Given the description of an element on the screen output the (x, y) to click on. 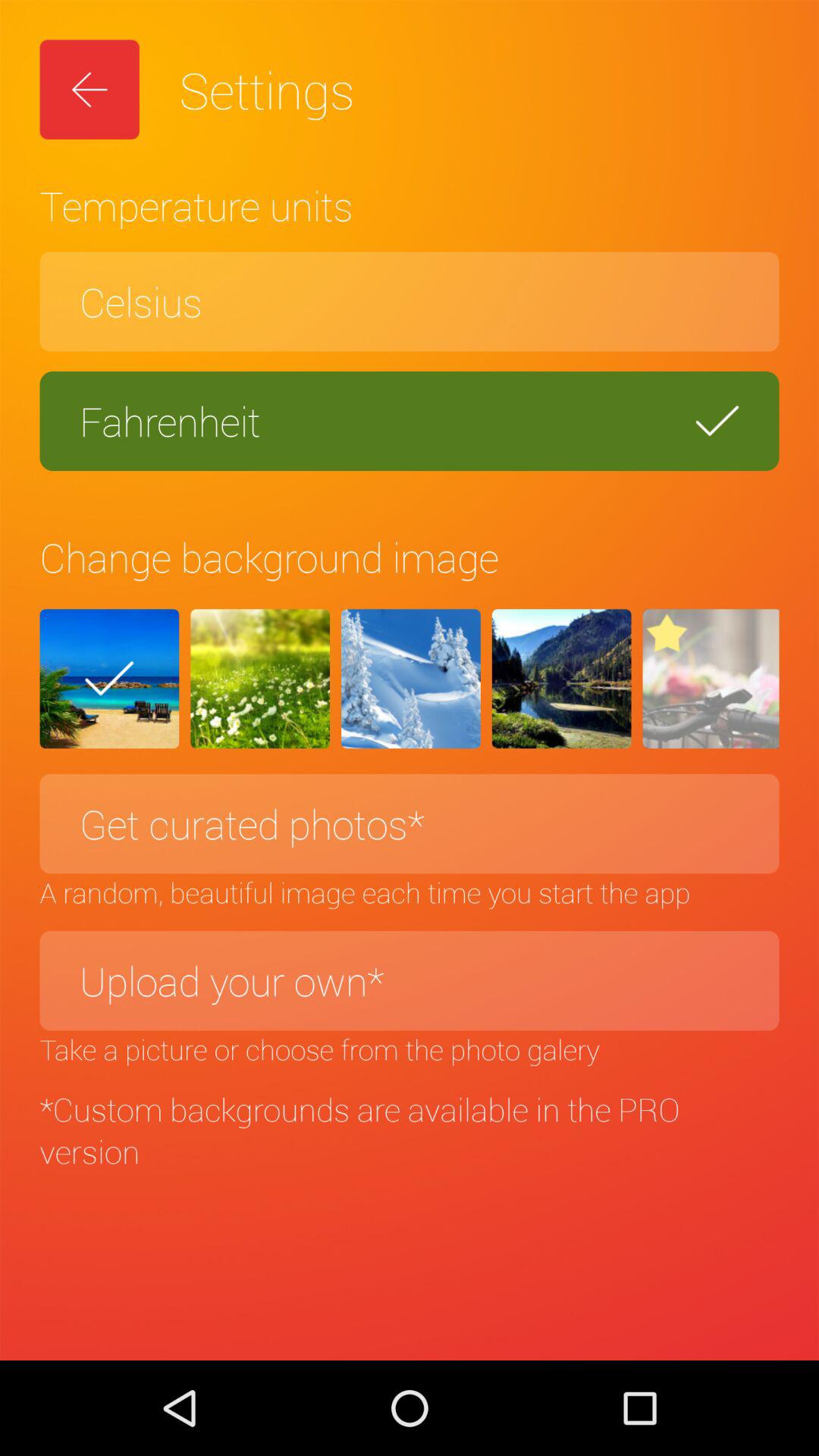
select the icon next to settings icon (89, 89)
